Given the description of an element on the screen output the (x, y) to click on. 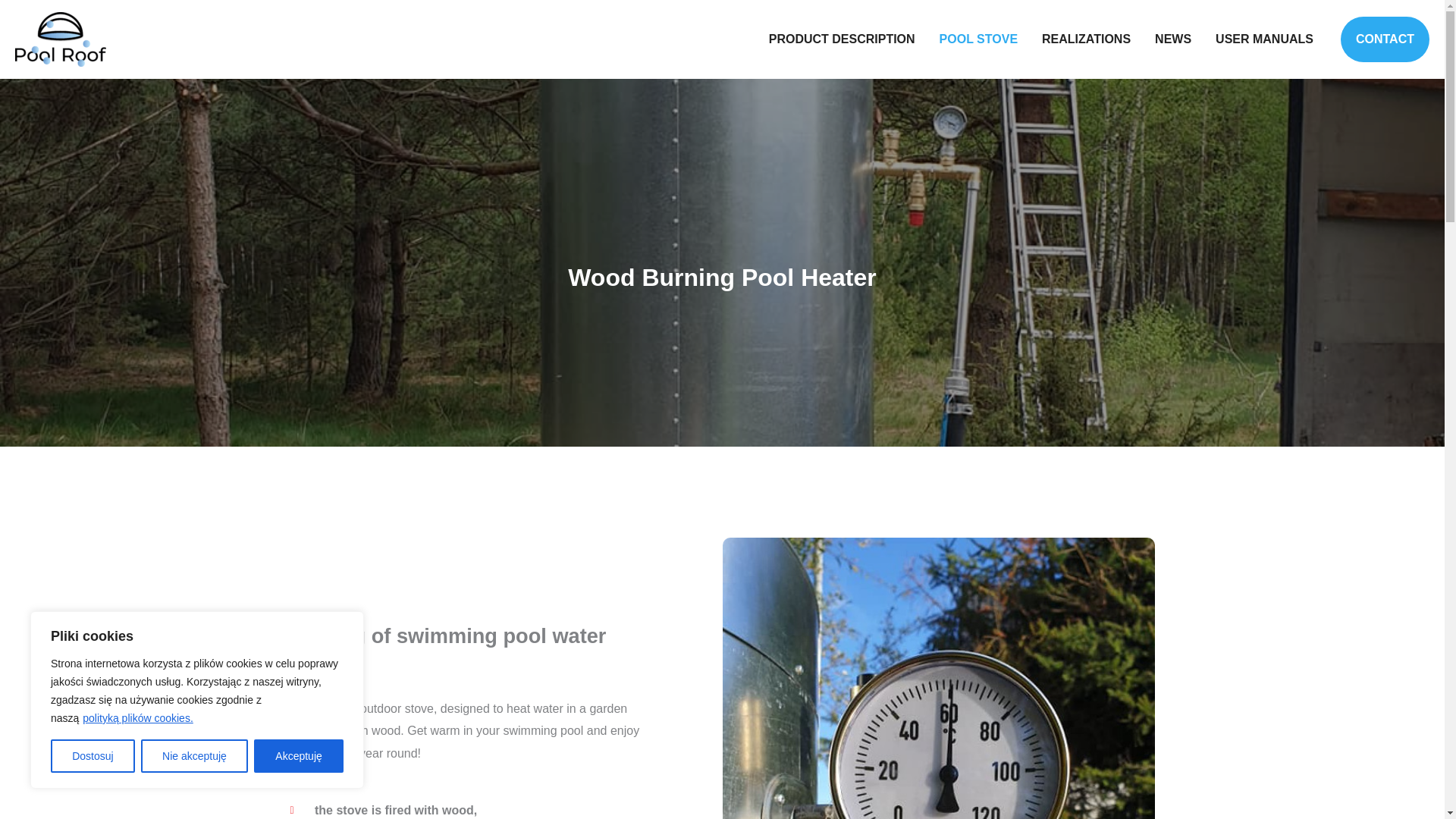
CONTACT (1384, 39)
Dostosuj (92, 756)
POOL STOVE (978, 39)
REALIZATIONS (1085, 39)
USER MANUALS (1264, 39)
NEWS (1173, 39)
PRODUCT DESCRIPTION (842, 39)
